Given the description of an element on the screen output the (x, y) to click on. 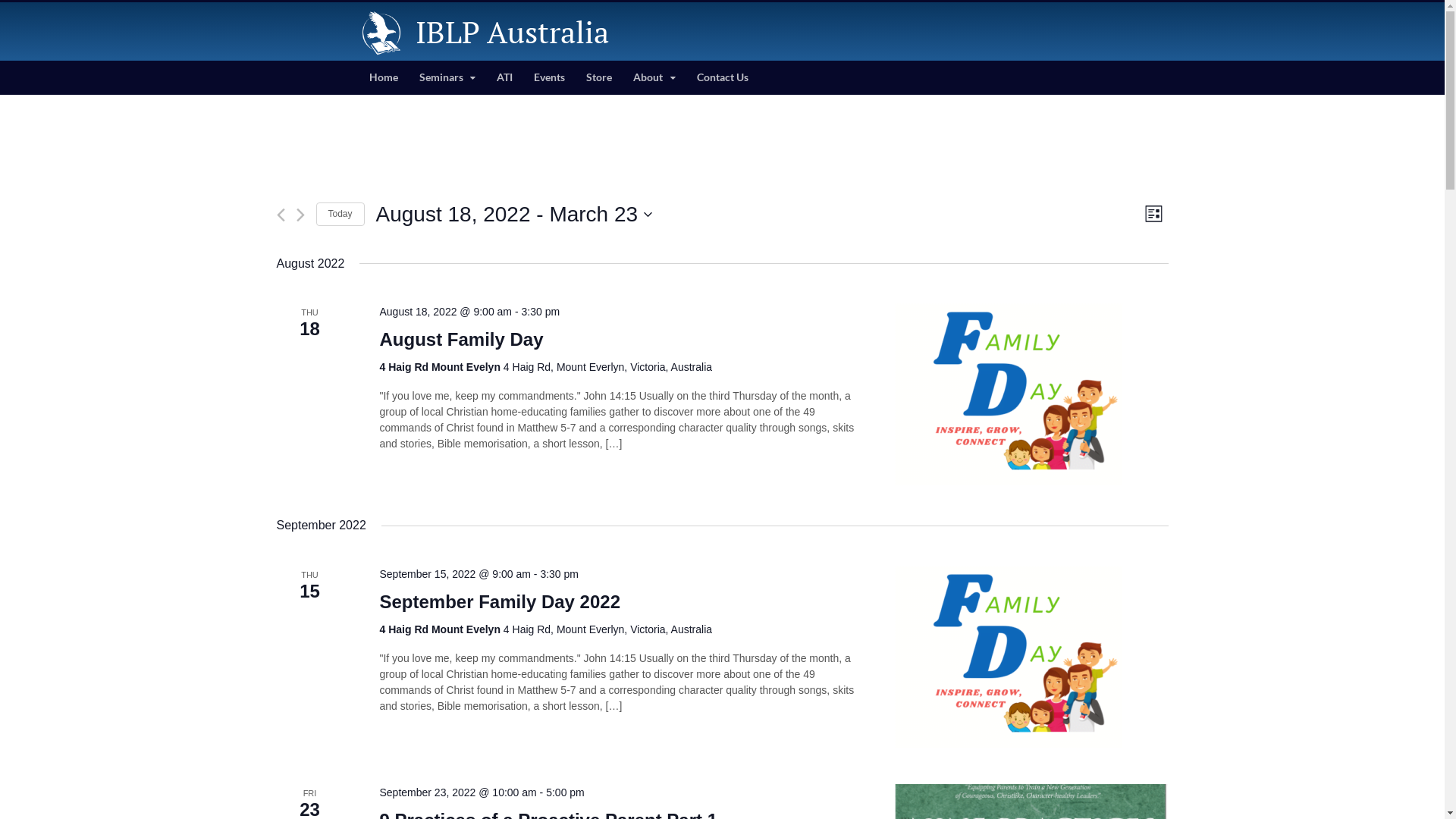
About Element type: text (654, 77)
Previous Events Element type: hover (280, 214)
Seminars Element type: text (446, 77)
ATI Element type: text (504, 77)
August Family Day Element type: text (460, 339)
September Family Day 2022 Element type: text (499, 601)
Family Day Logo (1) Element type: hover (1008, 656)
Events Element type: text (549, 77)
Store Element type: text (598, 77)
Contact Us Element type: text (722, 77)
Today Element type: text (339, 213)
IBLP Australia Element type: text (511, 31)
September Family Day 2022 Element type: hover (1030, 656)
August Family Day Element type: hover (1030, 394)
August 18, 2022
 - 
March 23 Element type: text (514, 214)
List Element type: text (1153, 214)
Family Day Logo (1) Element type: hover (1008, 394)
Next Events Element type: hover (299, 214)
Home Element type: text (382, 77)
